Given the description of an element on the screen output the (x, y) to click on. 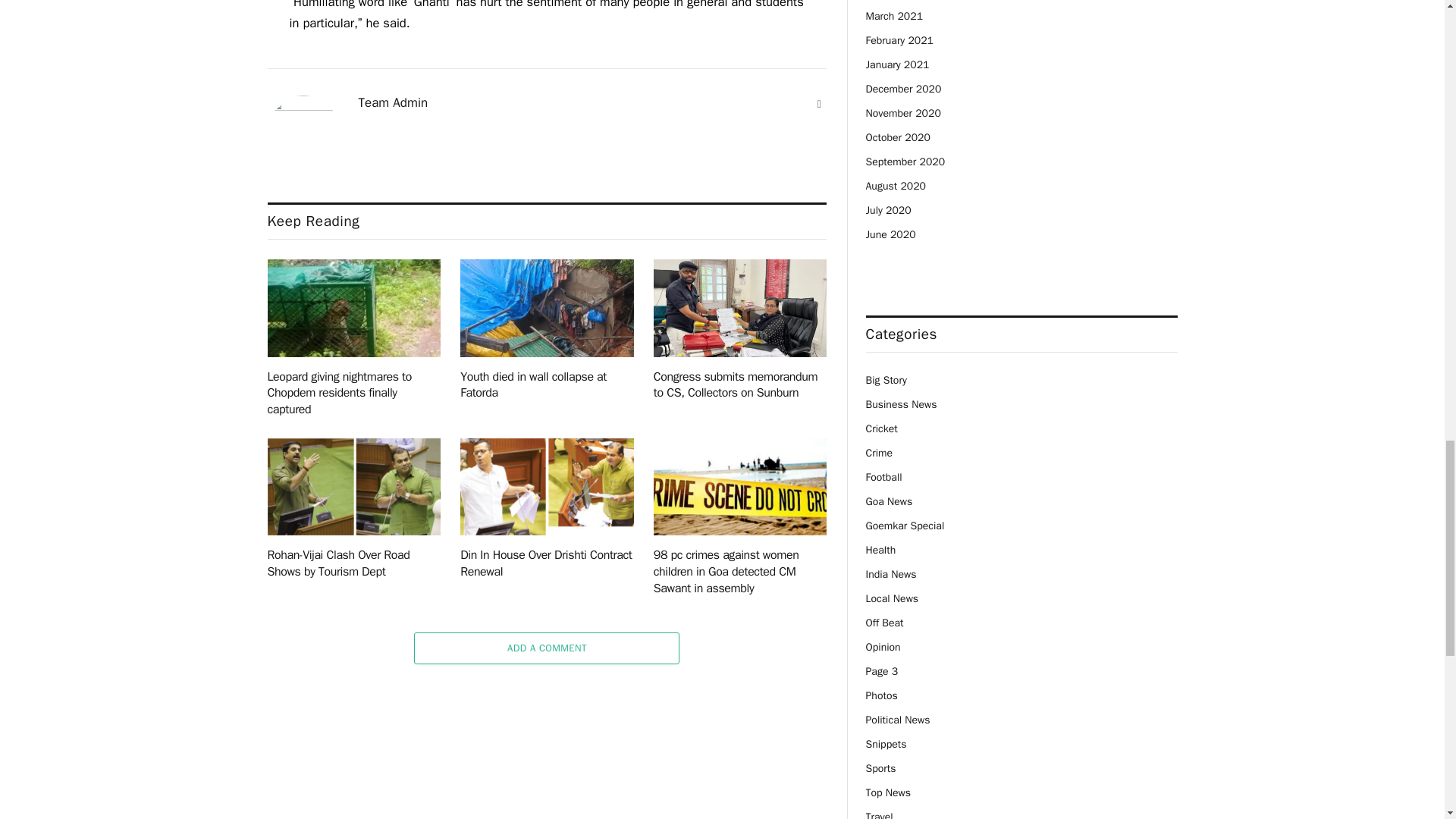
Posts by Team Admin (393, 102)
Website (818, 104)
